Given the description of an element on the screen output the (x, y) to click on. 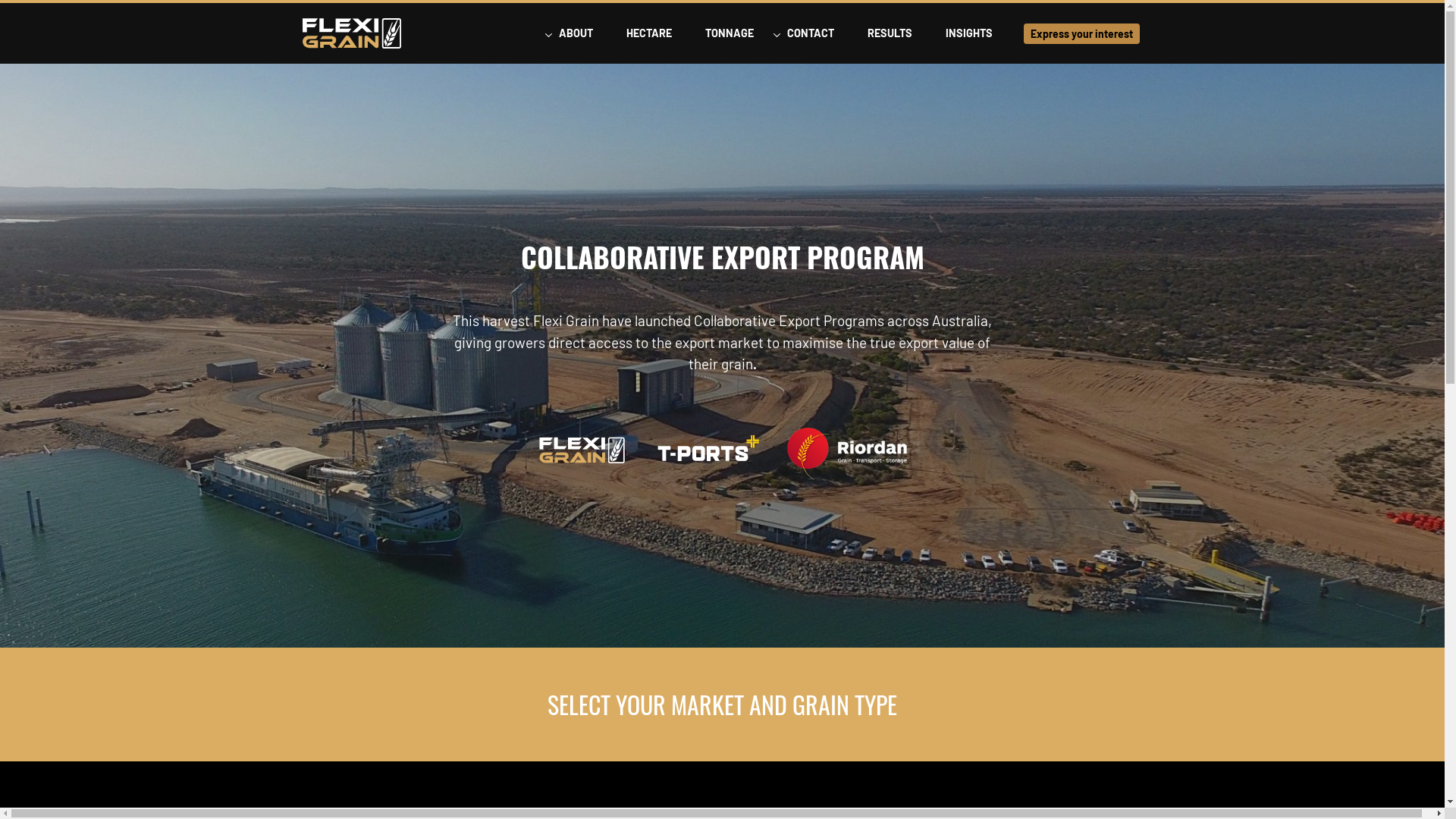
ABOUT Element type: text (574, 32)
TONNAGE Element type: text (729, 32)
RESULTS Element type: text (889, 32)
Flexi Grain Element type: hover (351, 33)
CONTACT Element type: text (810, 32)
INSIGHTS Element type: text (968, 32)
HECTARE Element type: text (648, 32)
Express your interest Element type: text (1081, 33)
